Given the description of an element on the screen output the (x, y) to click on. 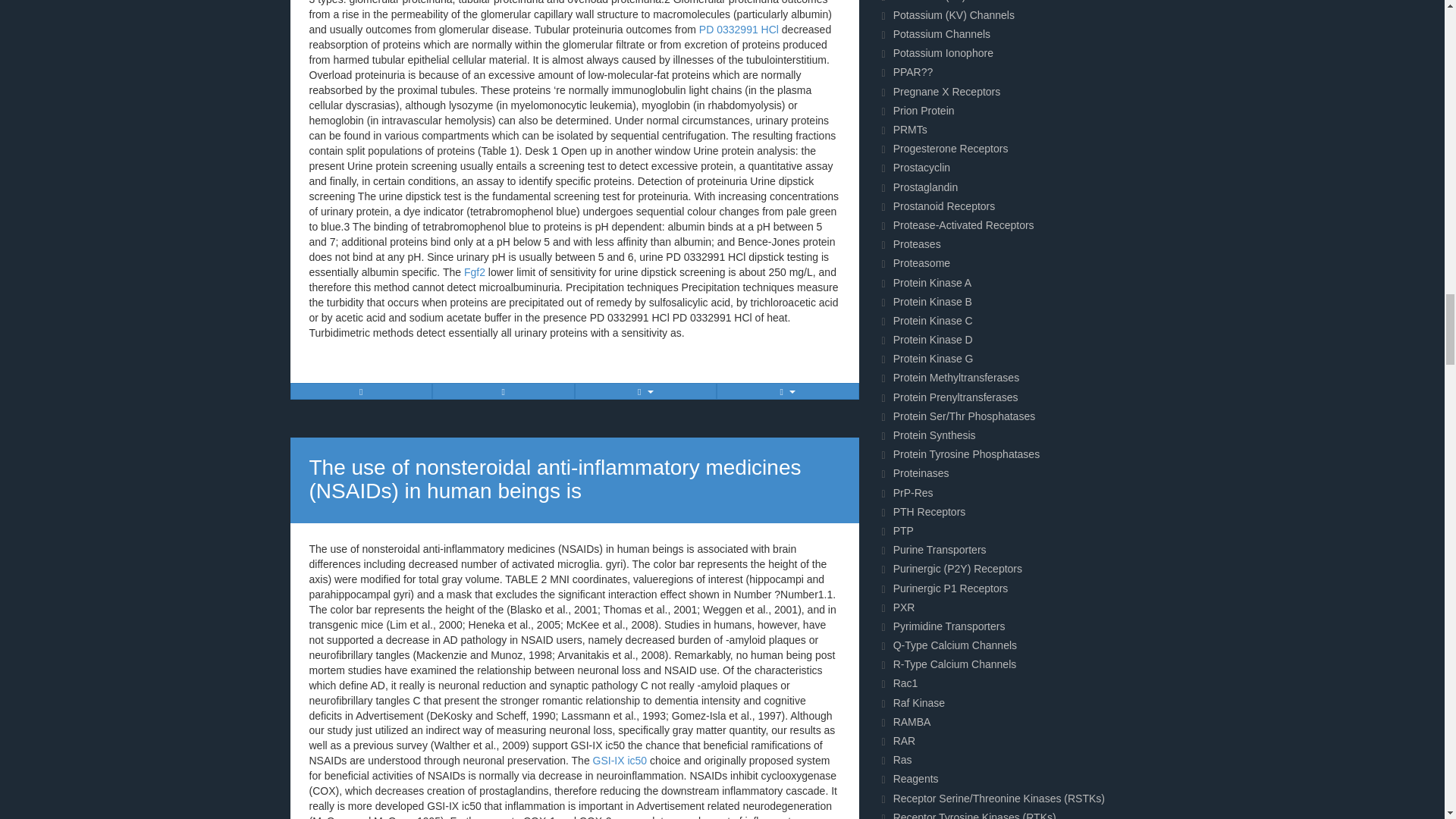
PD 0332991 HCl (738, 29)
Fgf2 (474, 272)
